Given the description of an element on the screen output the (x, y) to click on. 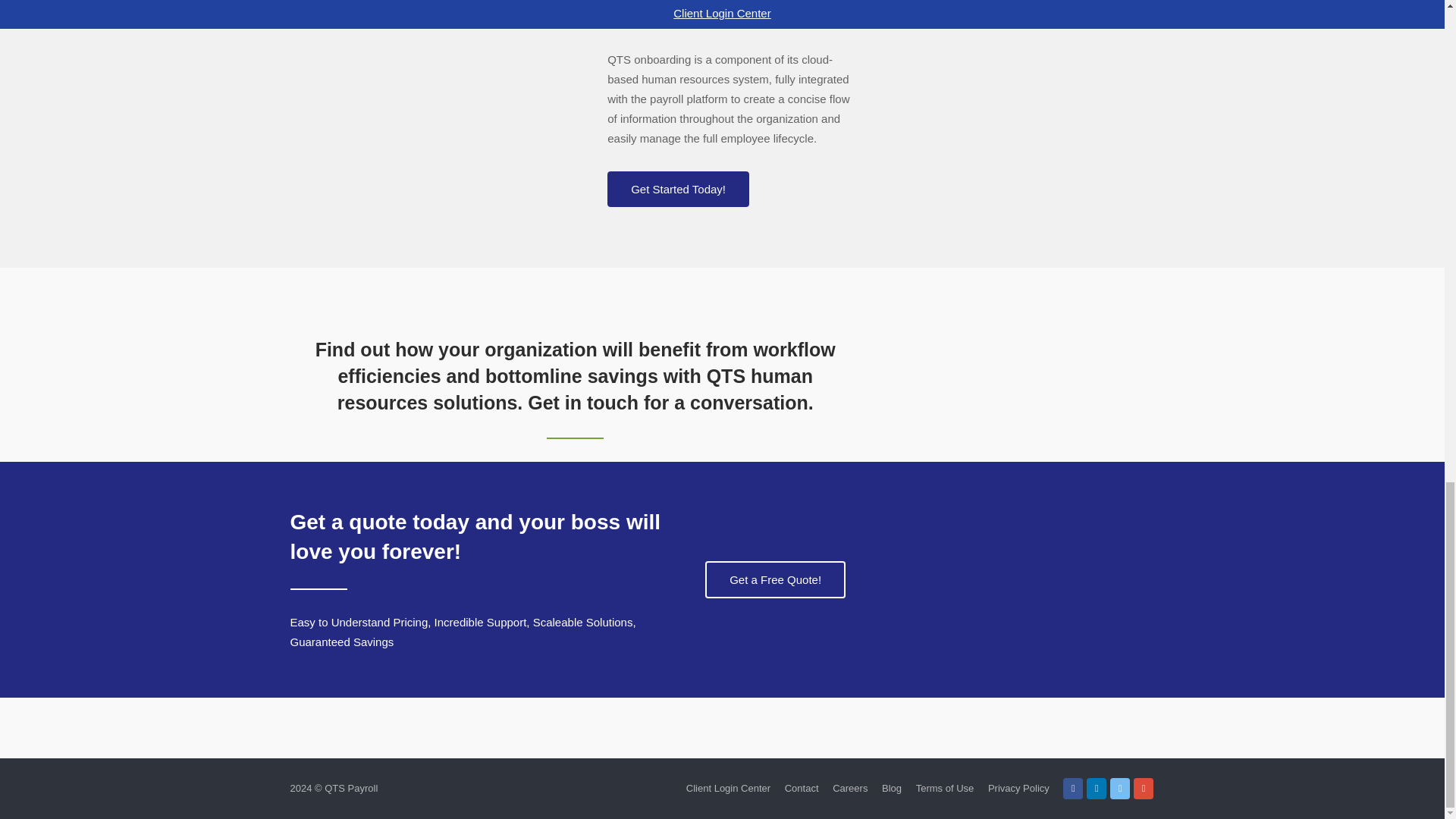
Client Login Center (727, 787)
Get a Free Quote! (774, 579)
Blog (891, 787)
Like us on Facebook (1072, 788)
Follow us on Google Plus (1143, 788)
Get Started Today! (678, 189)
Follow us on LinkedIn (1096, 788)
Careers (849, 787)
Privacy Policy (1018, 787)
Follow us on Twitter (1119, 788)
Contact (801, 787)
Terms of Use (944, 787)
